Given the description of an element on the screen output the (x, y) to click on. 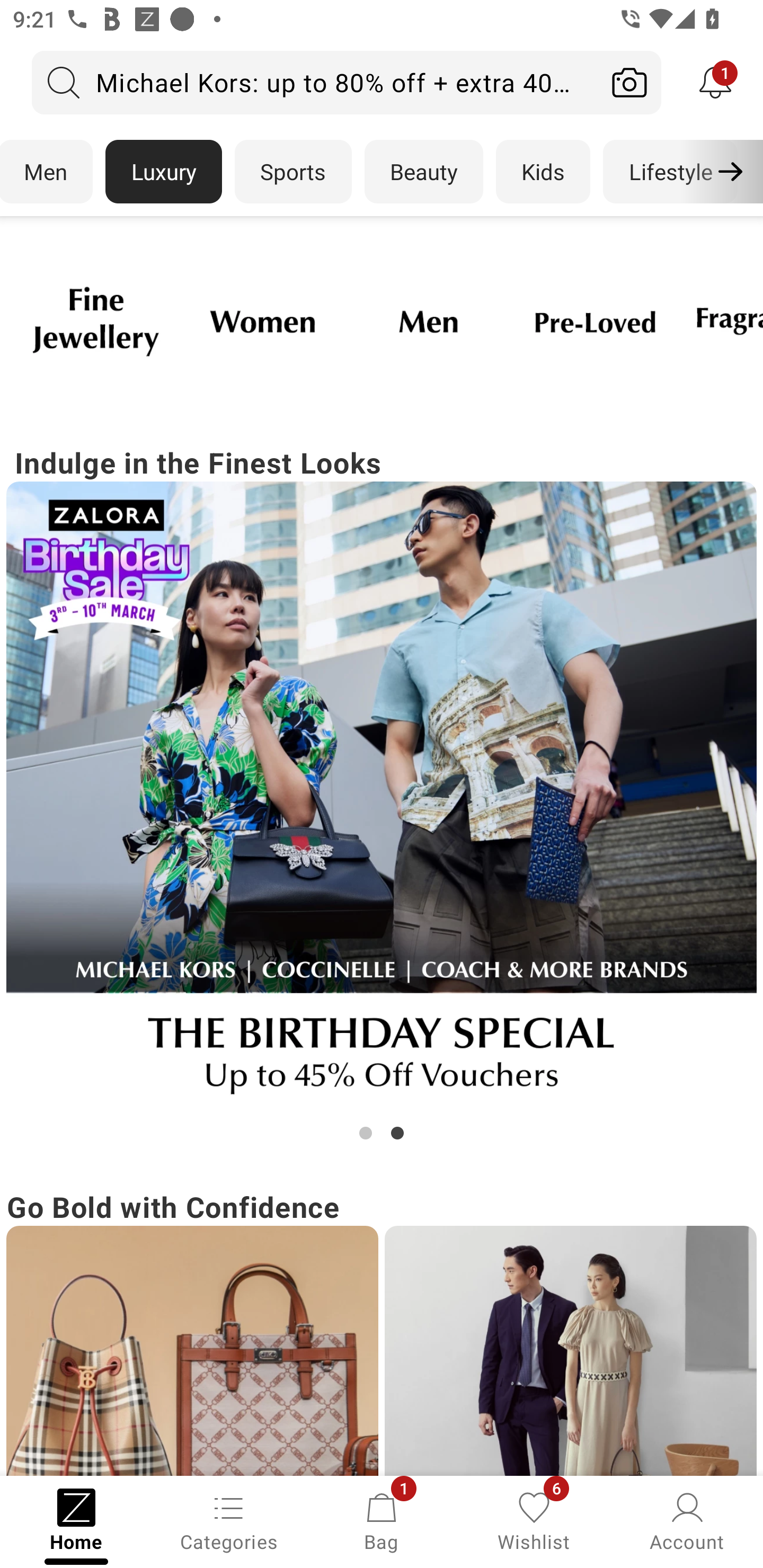
Michael Kors: up to 80% off + extra 40% off (314, 82)
Men (46, 171)
Luxury (163, 171)
Sports (293, 171)
Beauty (423, 171)
Kids (542, 171)
Lifestyle (669, 171)
Campaign banner (95, 321)
Campaign banner (261, 321)
Campaign banner (428, 321)
Campaign banner (594, 321)
 Indulge in the Finest Looks Campaign banner (381, 792)
Campaign banner (381, 797)
Campaign banner (192, 1350)
Campaign banner (570, 1350)
Categories (228, 1519)
Bag, 1 new notification Bag (381, 1519)
Wishlist, 6 new notifications Wishlist (533, 1519)
Account (686, 1519)
